Given the description of an element on the screen output the (x, y) to click on. 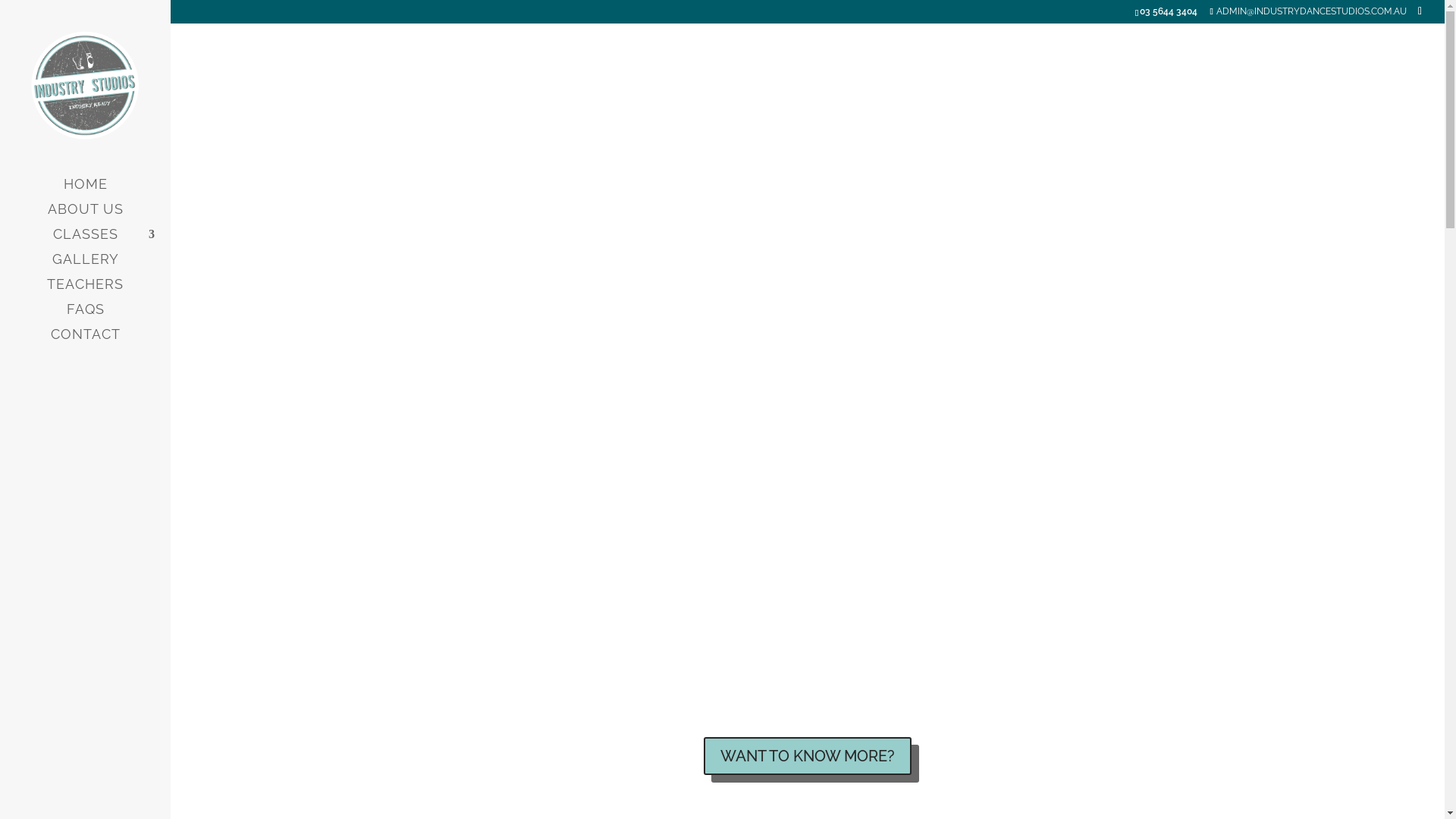
WANT TO KNOW MORE? Element type: text (807, 756)
TEACHERS Element type: text (100, 291)
ABOUT US Element type: text (100, 216)
FAQS Element type: text (100, 316)
CLASSES Element type: text (100, 241)
GALLERY Element type: text (100, 266)
CONTACT Element type: text (100, 341)
HOME Element type: text (100, 190)
ADMIN@INDUSTRYDANCESTUDIOS.COM.AU Element type: text (1307, 11)
